Given the description of an element on the screen output the (x, y) to click on. 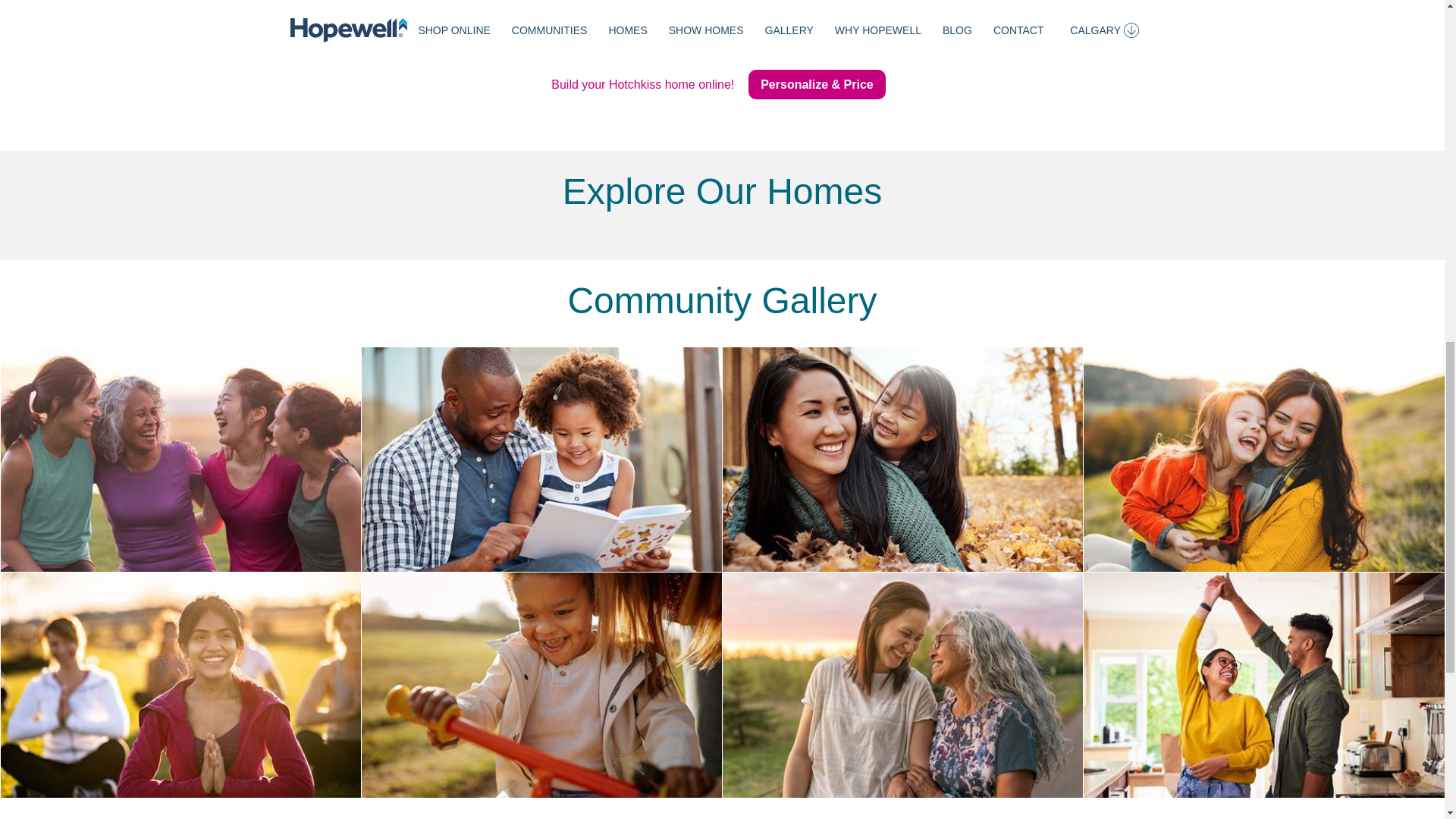
Hotchkiss (541, 684)
Hotchkiss (1263, 458)
Hotchkiss (179, 684)
Hotchkiss (902, 458)
Hotchkiss (179, 458)
Hotchkiss (902, 684)
Hotchkiss (1263, 684)
Hotchkiss (541, 458)
